Given the description of an element on the screen output the (x, y) to click on. 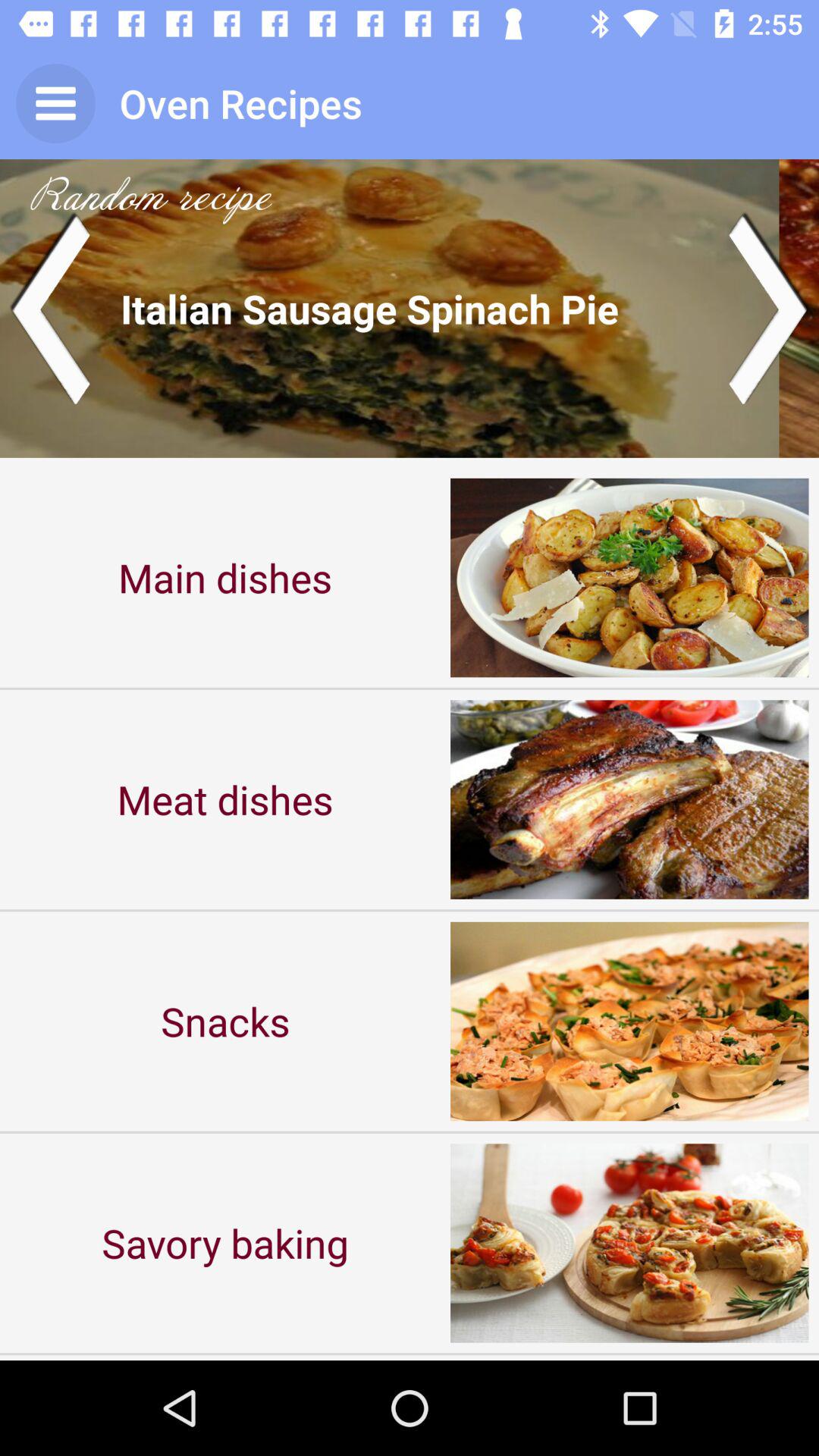
swipe to the main dishes icon (225, 577)
